Given the description of an element on the screen output the (x, y) to click on. 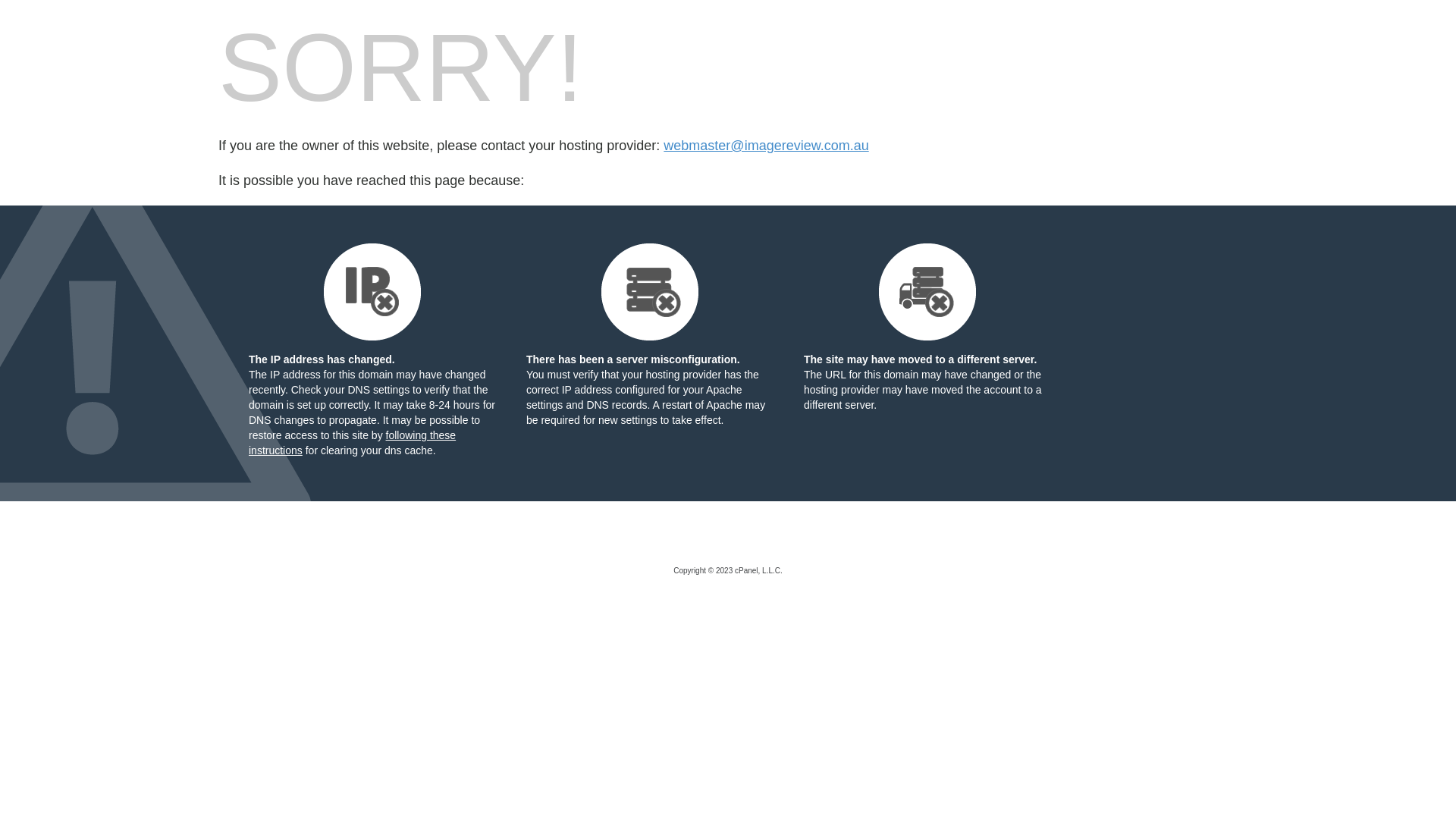
following these instructions Element type: text (351, 442)
webmaster@imagereview.com.au Element type: text (765, 145)
